Given the description of an element on the screen output the (x, y) to click on. 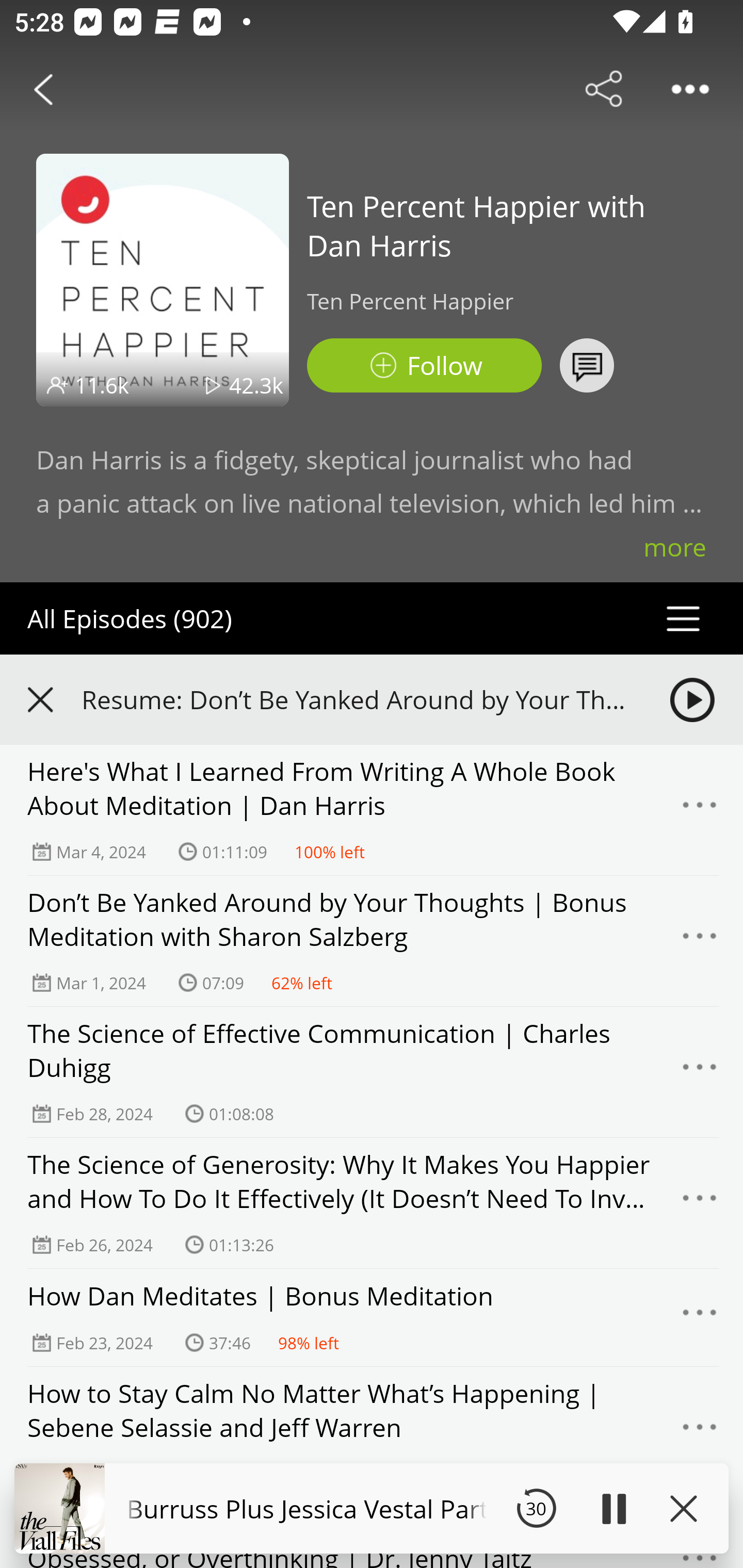
Back (43, 88)
Podbean Follow (423, 365)
11.6k (102, 384)
more (674, 546)
Menu (699, 809)
Menu (699, 941)
Menu (699, 1072)
Menu (699, 1203)
Menu (699, 1317)
Menu (699, 1432)
Play (613, 1507)
30 Seek Backward (536, 1508)
